Given the description of an element on the screen output the (x, y) to click on. 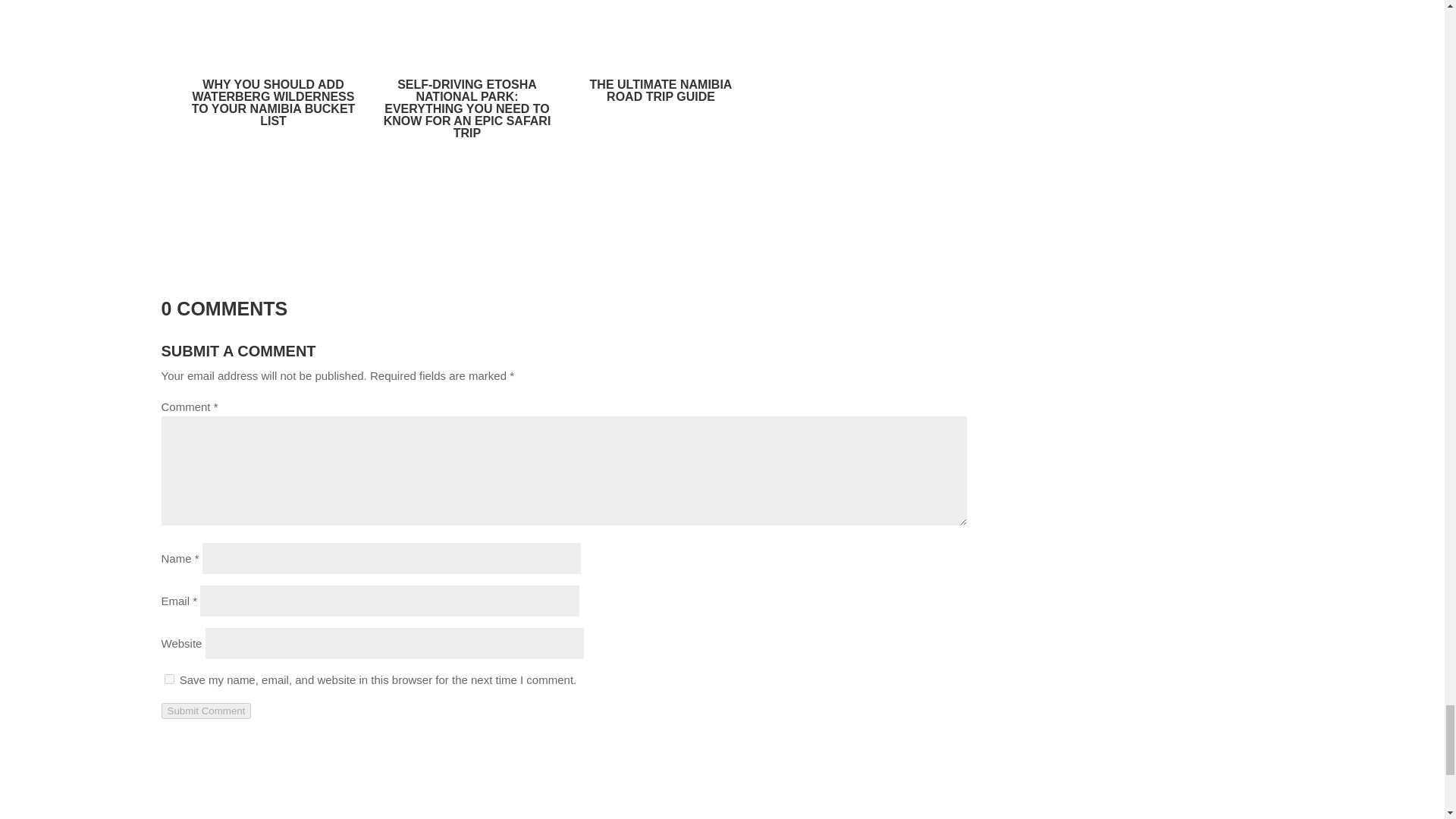
yes (168, 678)
